Given the description of an element on the screen output the (x, y) to click on. 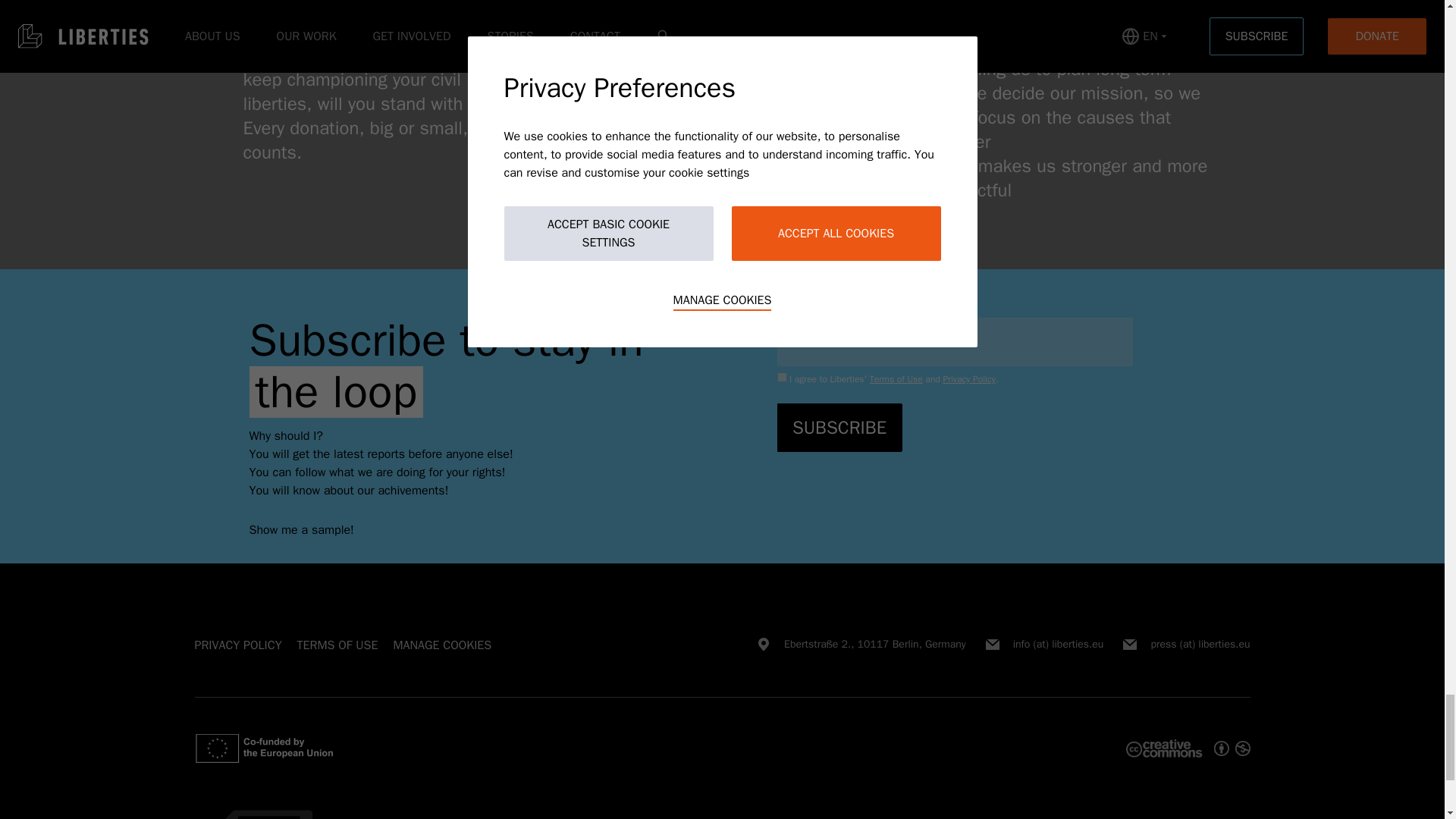
1 (781, 377)
on (591, 40)
on (739, 40)
